Given the description of an element on the screen output the (x, y) to click on. 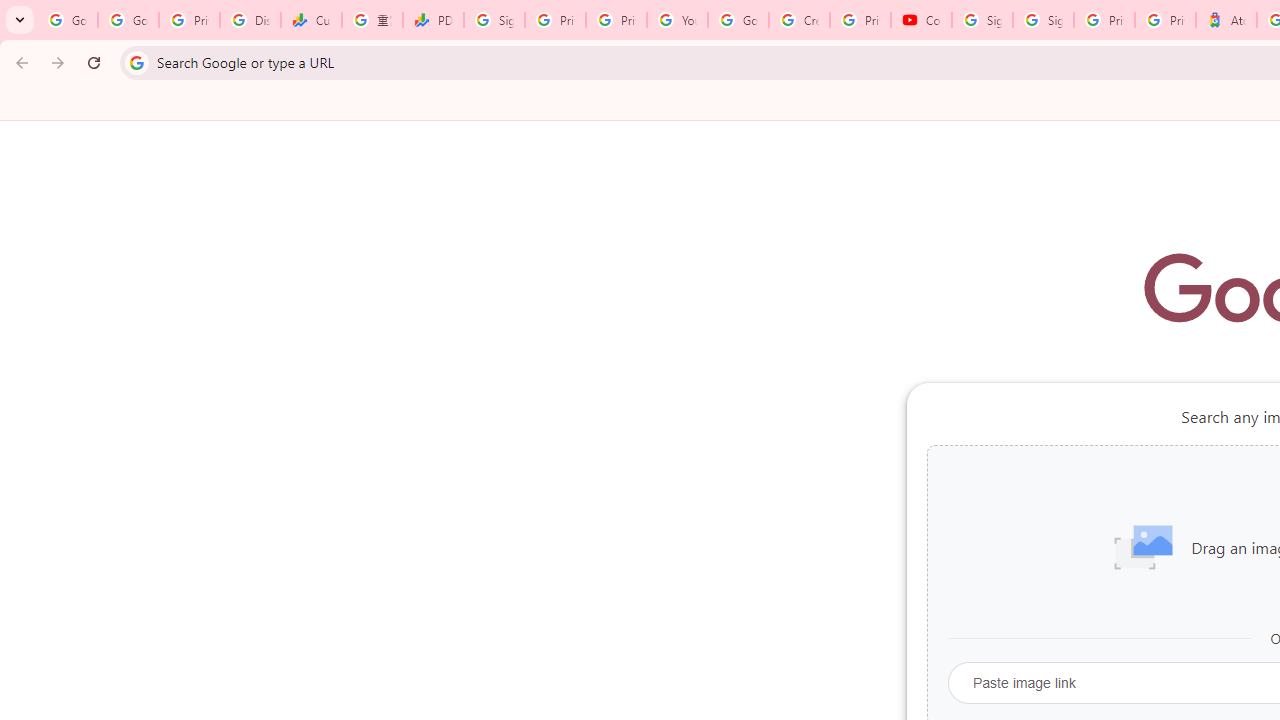
Google Account Help (738, 20)
Create your Google Account (799, 20)
Sign in - Google Accounts (493, 20)
Sign in - Google Accounts (982, 20)
Google Workspace Admin Community (67, 20)
